Given the description of an element on the screen output the (x, y) to click on. 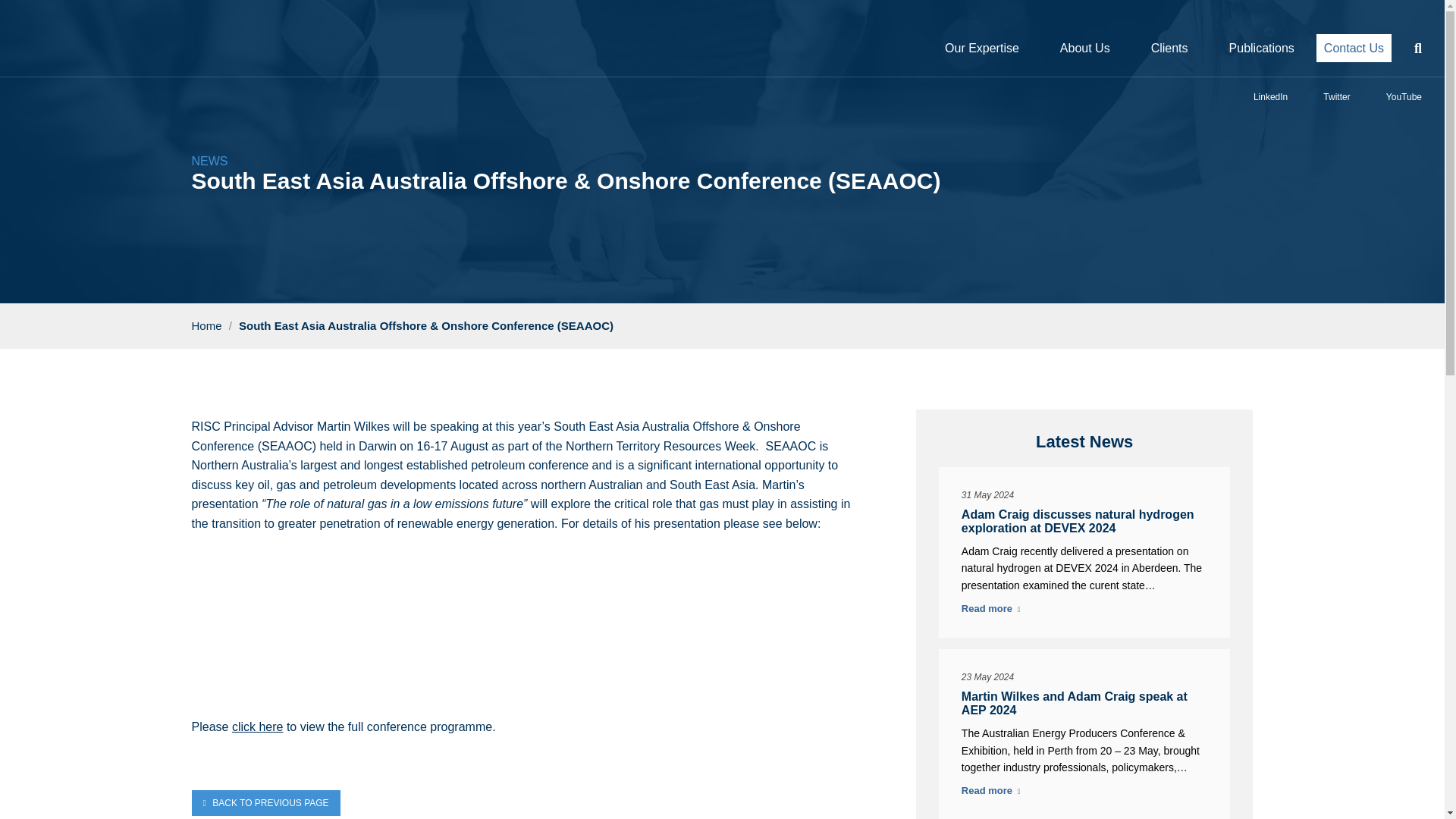
Contact Us (1353, 48)
About Us (1085, 47)
Publications (1261, 47)
Clients (1169, 47)
RISC (79, 53)
Our Expertise (982, 47)
